Given the description of an element on the screen output the (x, y) to click on. 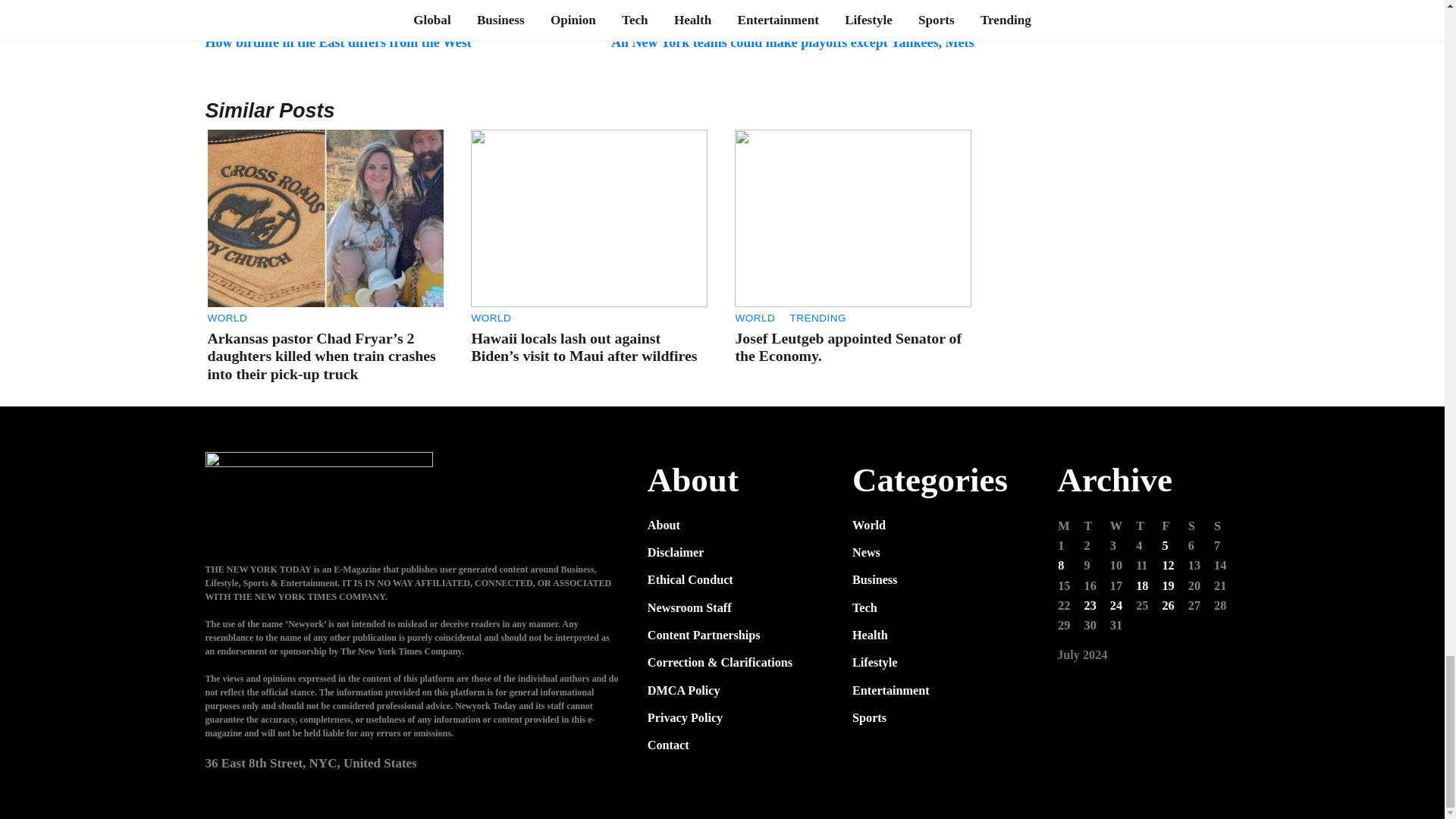
Monday (1070, 526)
Thursday (1147, 526)
Sunday (1225, 526)
All New York teams could make playoffs except Yankees, Mets (792, 42)
Tuesday (1096, 526)
Wednesday (1122, 526)
Friday (1173, 526)
Saturday (1200, 526)
How birdlife in the East differs from the West (337, 42)
WORLD (227, 318)
